Given the description of an element on the screen output the (x, y) to click on. 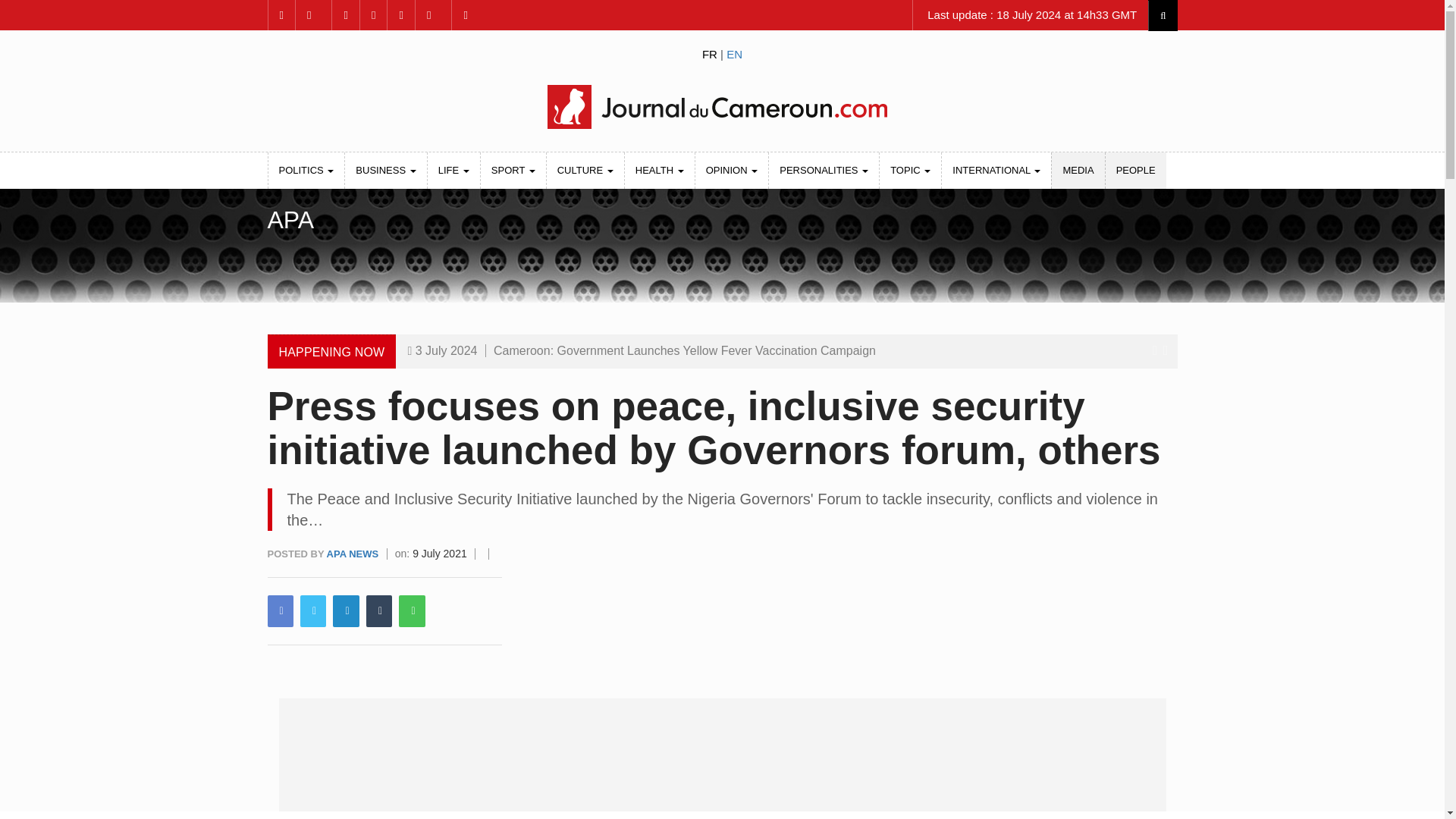
POLITICS (306, 170)
EN (734, 53)
JDC (721, 106)
Last update : 18 July 2024 at 14h33 GMT (1030, 15)
FR (709, 53)
BUSINESS (385, 170)
